Given the description of an element on the screen output the (x, y) to click on. 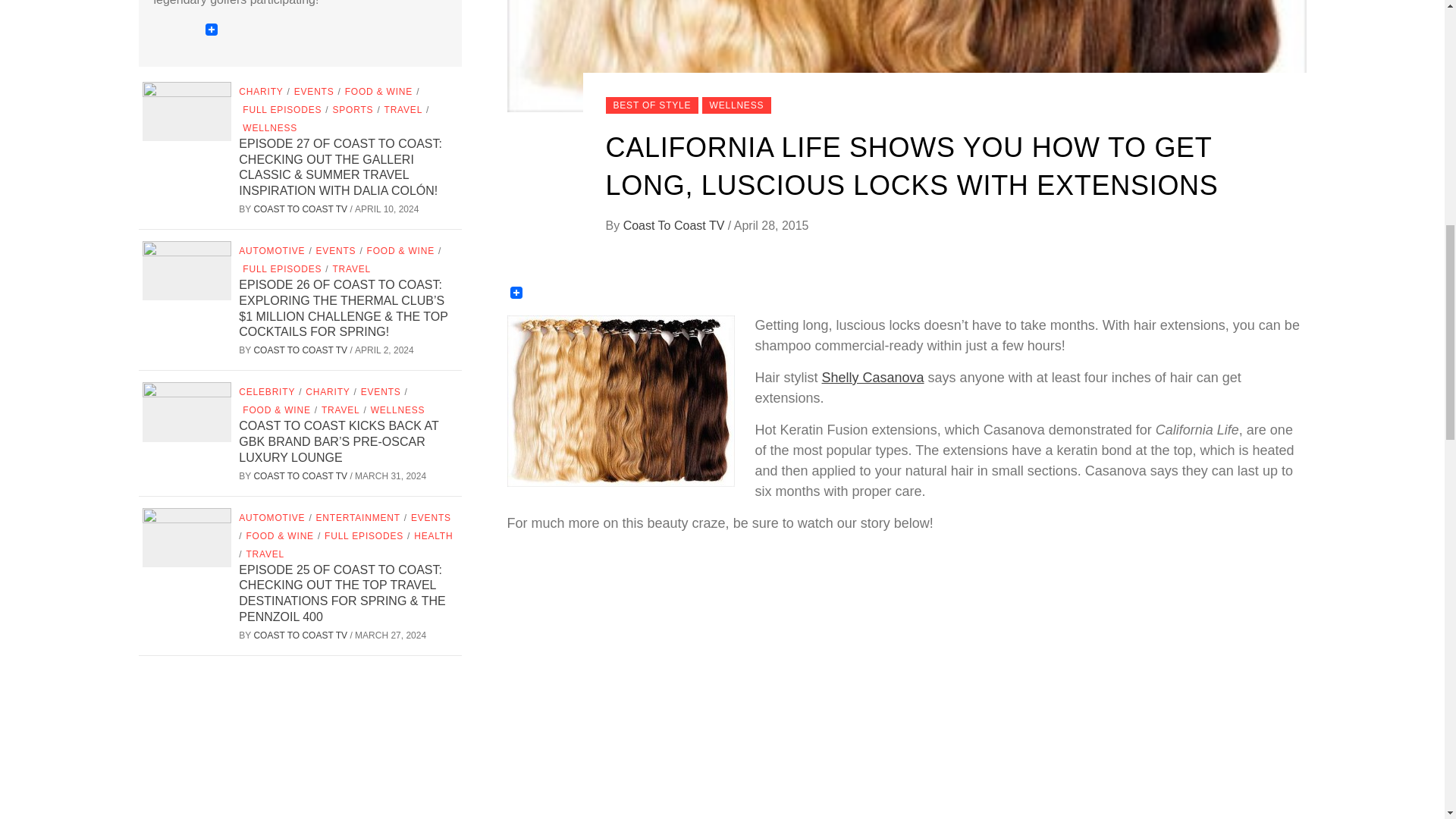
Shelly Casanova (873, 377)
WELLNESS (736, 105)
Coast To Coast TV (675, 225)
BEST OF STYLE (651, 105)
YouTube player (748, 682)
